Given the description of an element on the screen output the (x, y) to click on. 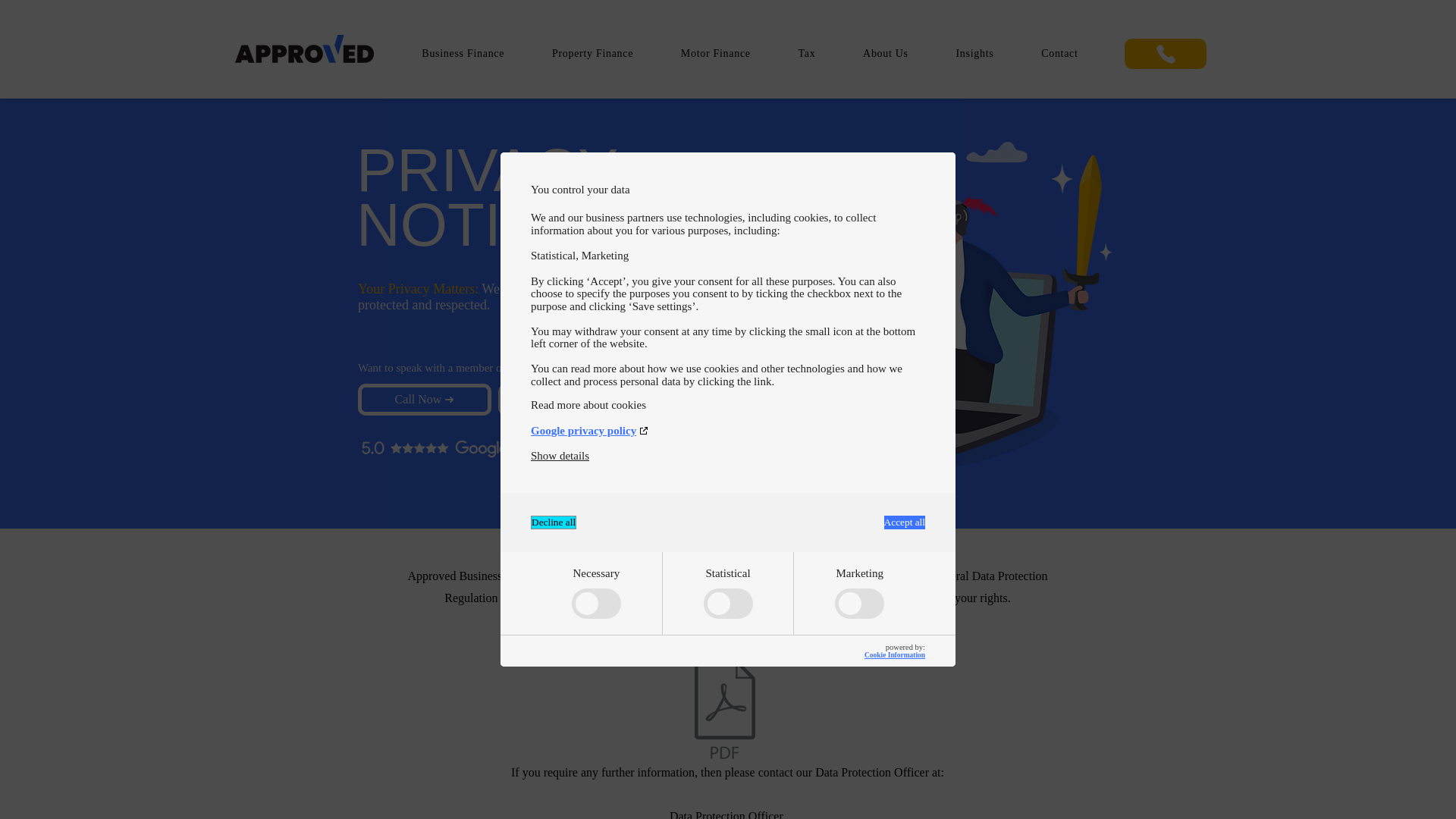
Read more about cookies (727, 404)
Google privacy policy (727, 431)
Accept all (903, 522)
Cookie Information (894, 655)
Show details (560, 455)
Decline all (553, 522)
